Given the description of an element on the screen output the (x, y) to click on. 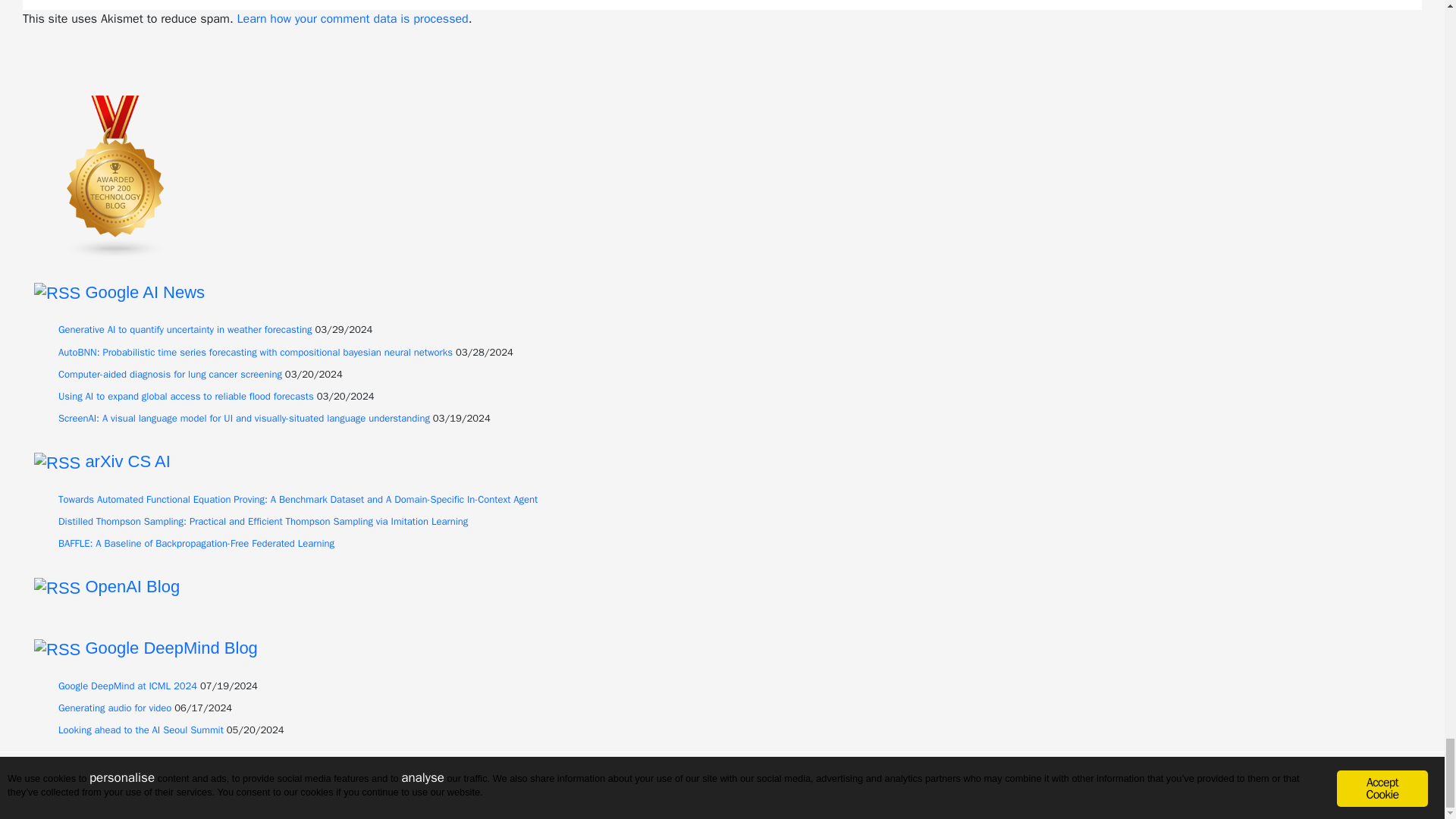
Technology blogs (115, 175)
